Given the description of an element on the screen output the (x, y) to click on. 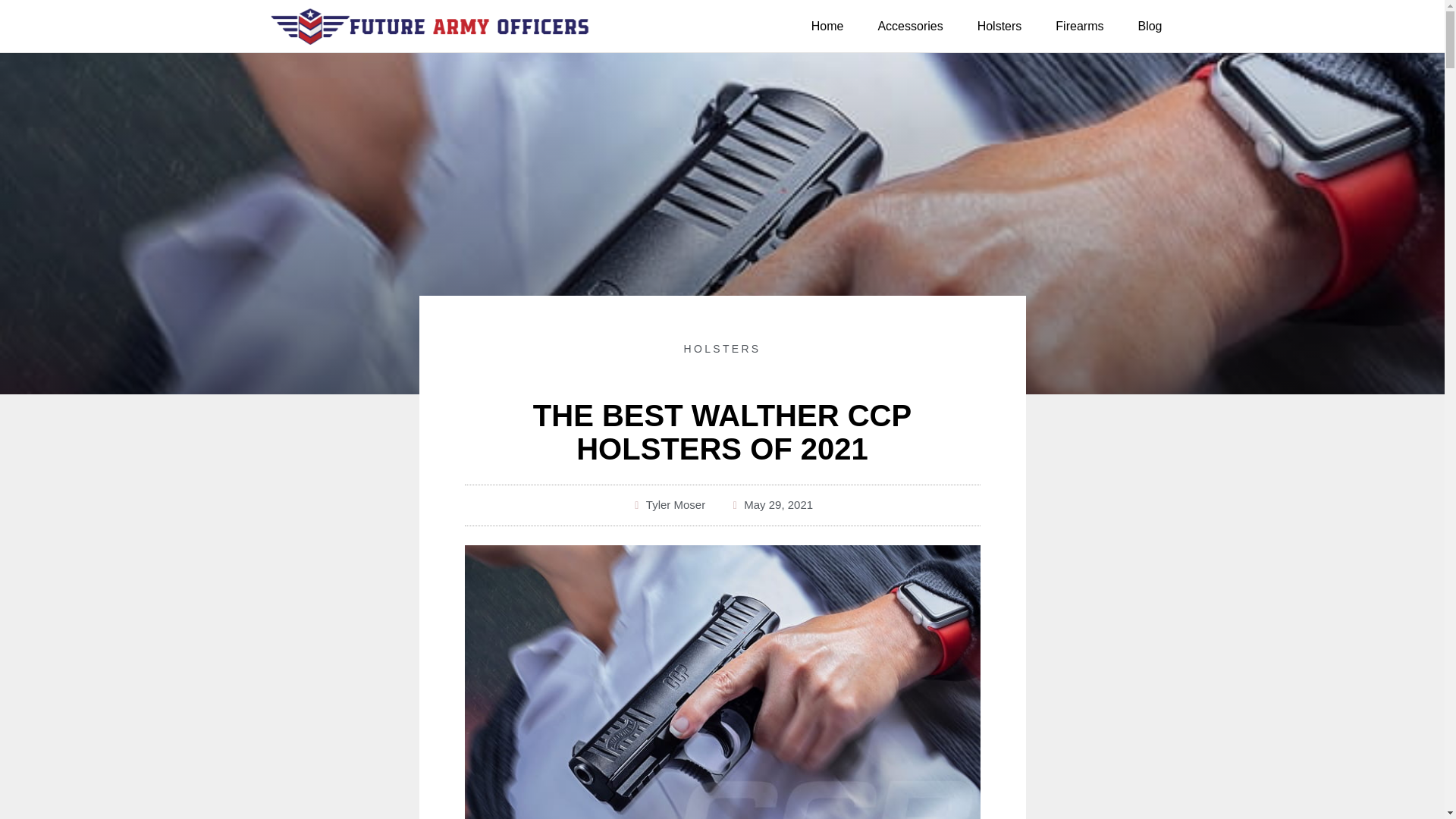
Firearms (1079, 26)
Blog (1149, 26)
Home (827, 26)
Holsters (999, 26)
Accessories (909, 26)
